Given the description of an element on the screen output the (x, y) to click on. 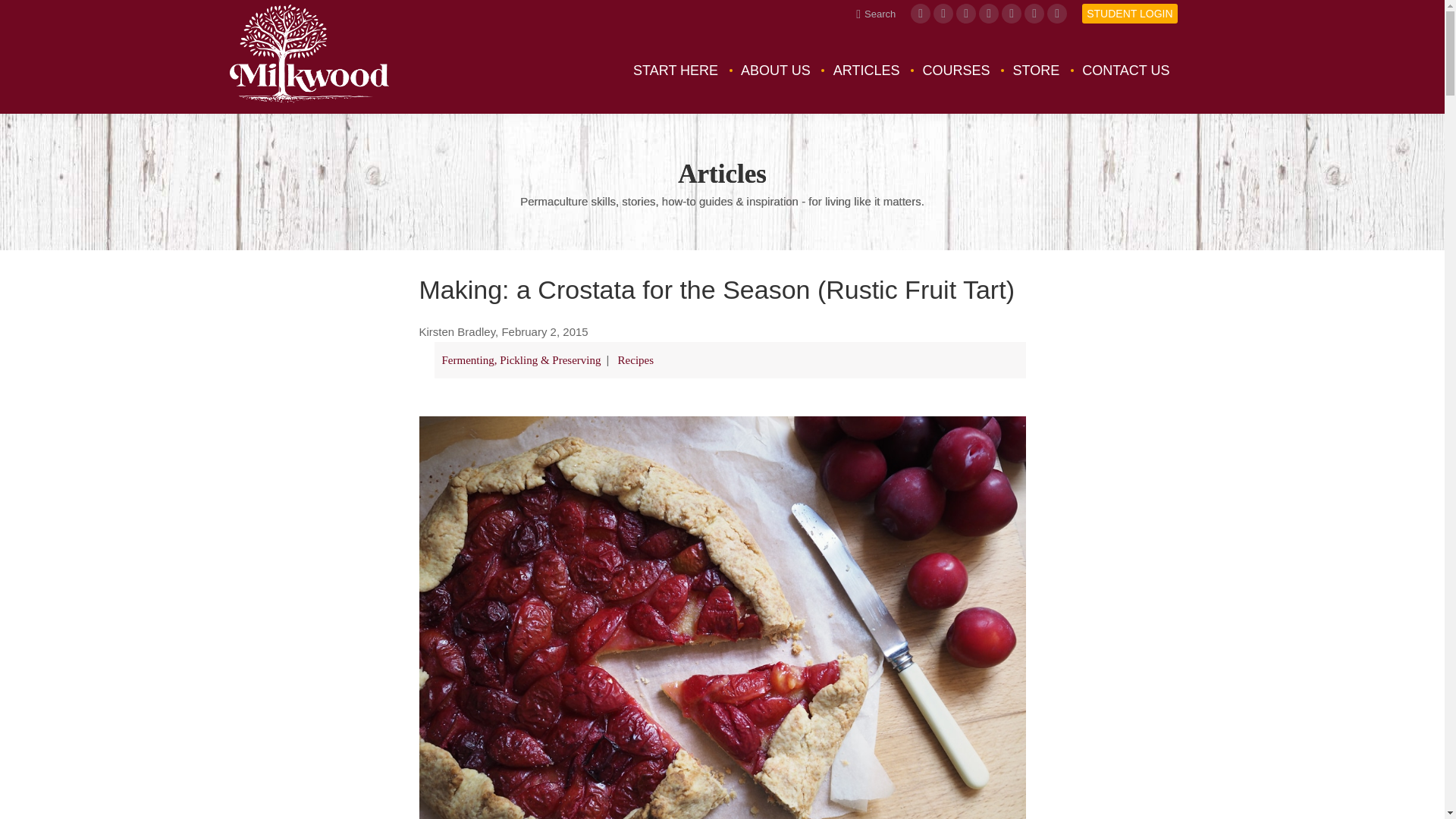
Search (875, 12)
Instagram page opens in new window (943, 13)
Twitter page opens in new window (1011, 13)
Whatsapp page opens in new window (1056, 13)
Instagram page opens in new window (943, 13)
Facebook page opens in new window (920, 13)
COURSES (955, 69)
Linkedin page opens in new window (1034, 13)
CONTACT US (1125, 69)
Twitter page opens in new window (1011, 13)
START HERE (675, 69)
Linkedin page opens in new window (1034, 13)
Facebook page opens in new window (920, 13)
YouTube page opens in new window (965, 13)
Go! (24, 17)
